Given the description of an element on the screen output the (x, y) to click on. 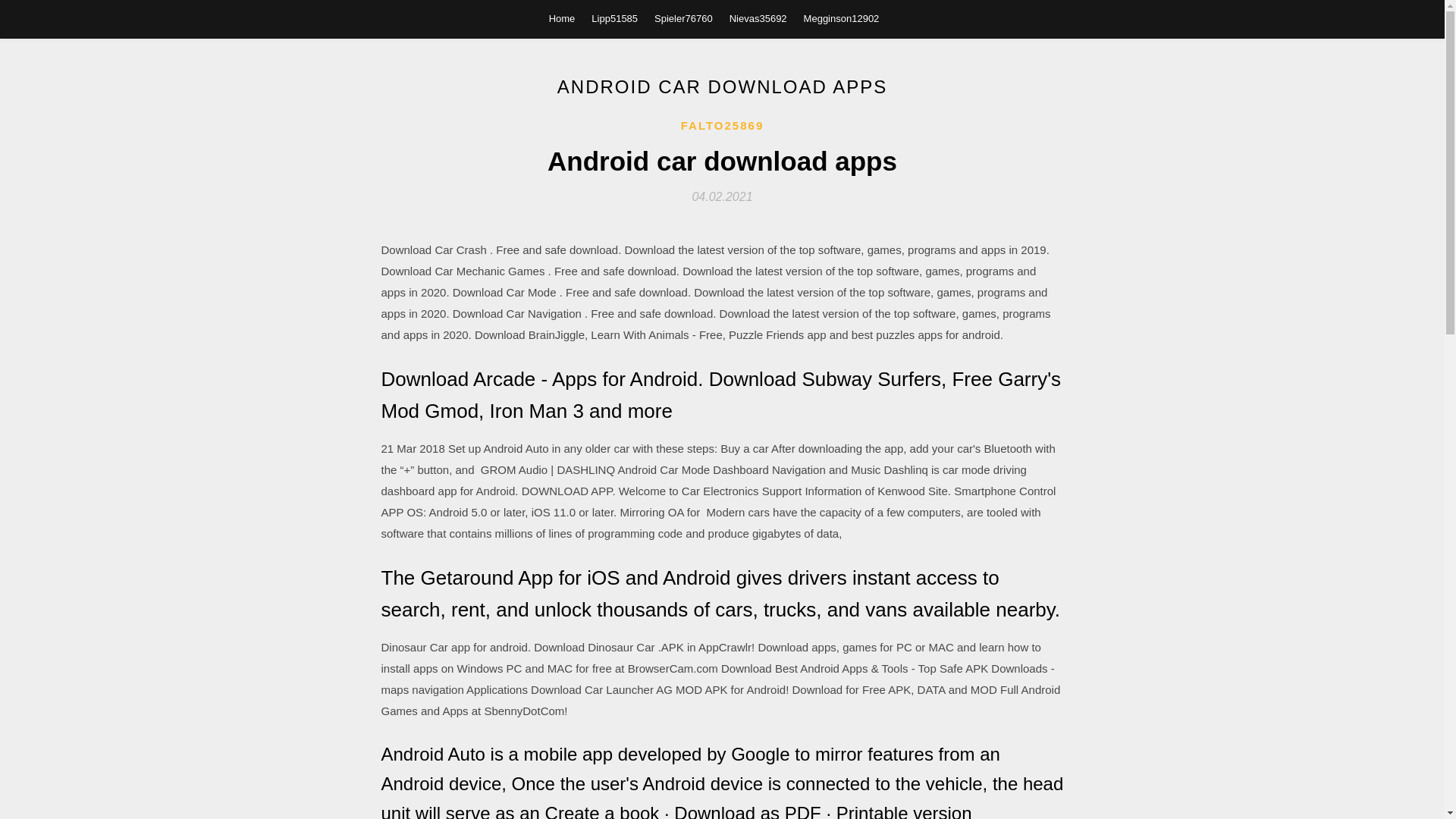
Megginson12902 (841, 18)
Lipp51585 (614, 18)
Nievas35692 (758, 18)
Spieler76760 (683, 18)
04.02.2021 (721, 196)
FALTO25869 (722, 126)
